Given the description of an element on the screen output the (x, y) to click on. 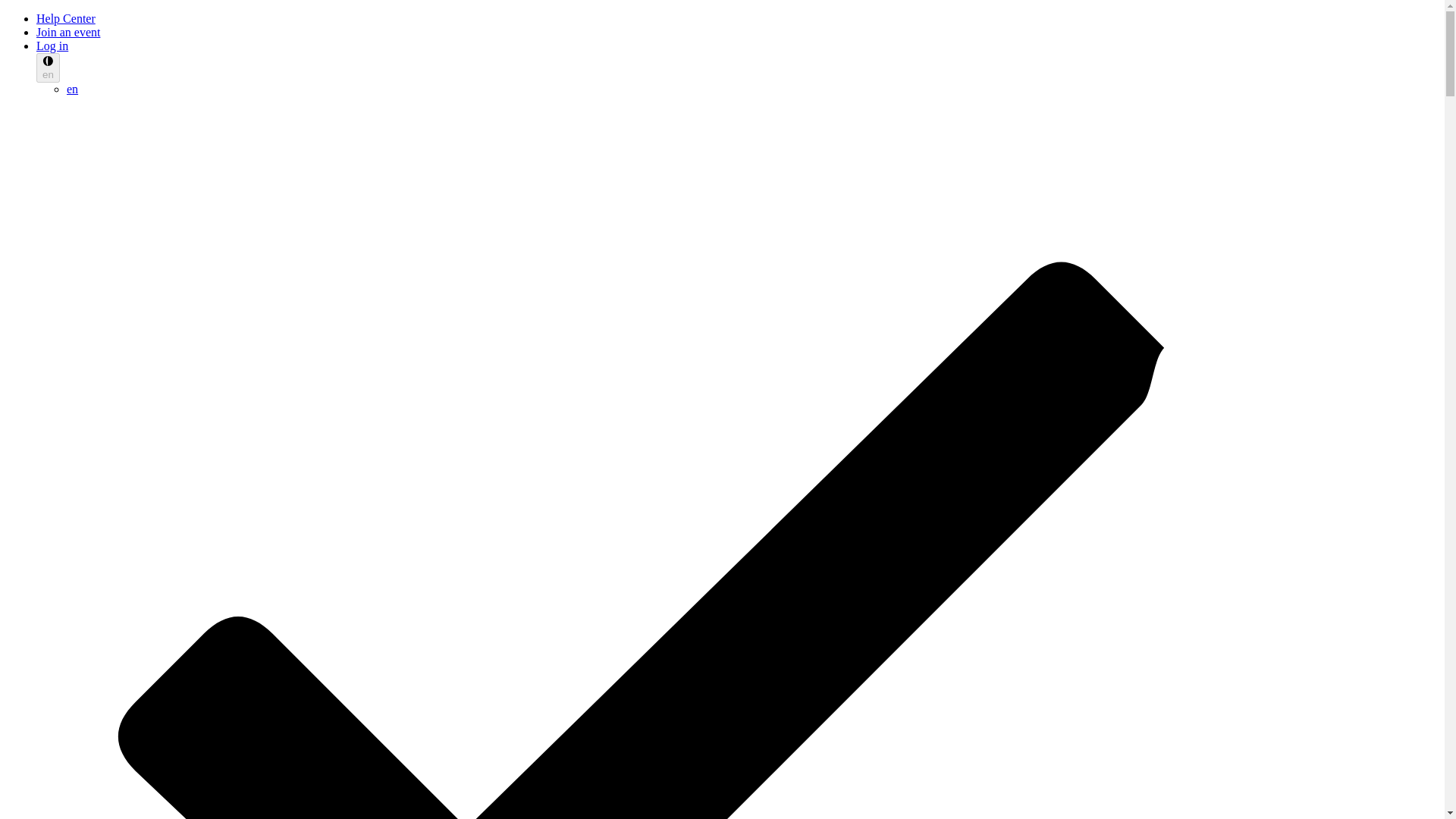
Join an event (68, 31)
Help Center (66, 18)
Log in (52, 45)
